Given the description of an element on the screen output the (x, y) to click on. 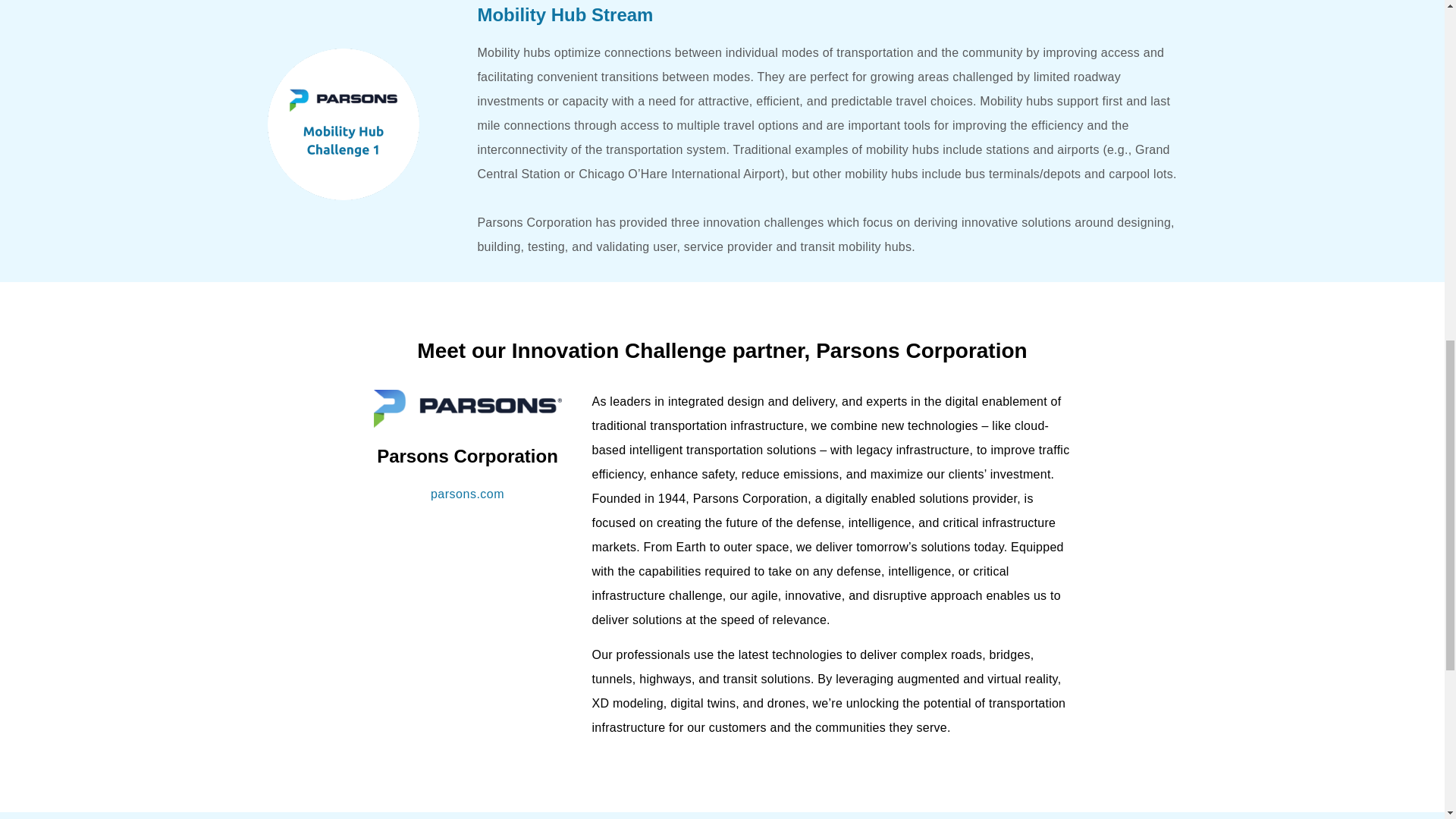
parsons.com (466, 493)
